Given the description of an element on the screen output the (x, y) to click on. 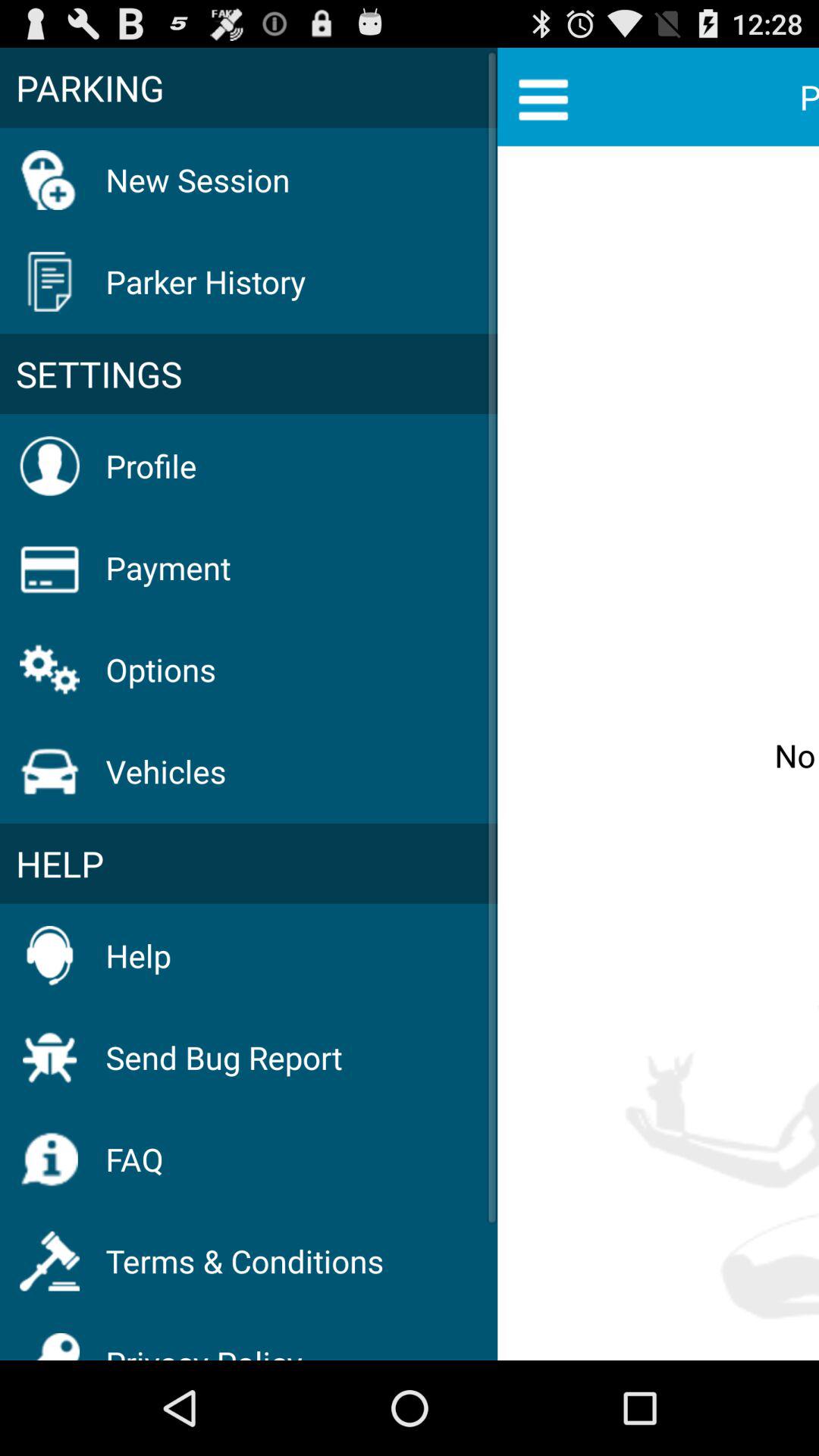
turn on icon above the terms & conditions icon (134, 1158)
